Given the description of an element on the screen output the (x, y) to click on. 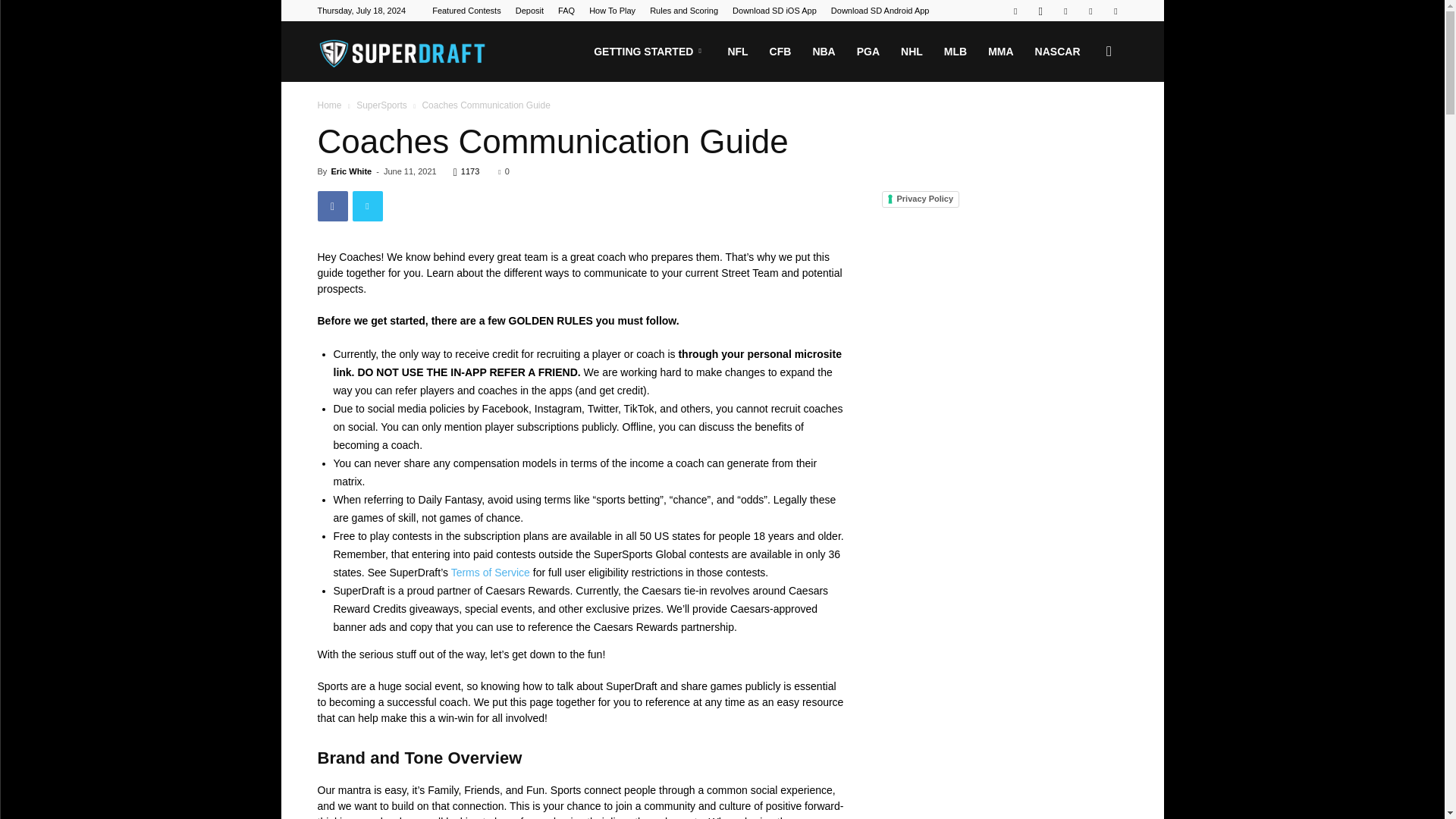
How To Play (611, 10)
Download SD iOS App (774, 10)
Instagram (1040, 10)
Featured Contests (466, 10)
Twitter (1090, 10)
Twitch (1065, 10)
Facebook (1015, 10)
View all posts in SuperSports (381, 104)
Download SD Android App (880, 10)
Deposit (529, 10)
Youtube (1114, 10)
FAQ (566, 10)
Rules and Scoring (683, 10)
